Given the description of an element on the screen output the (x, y) to click on. 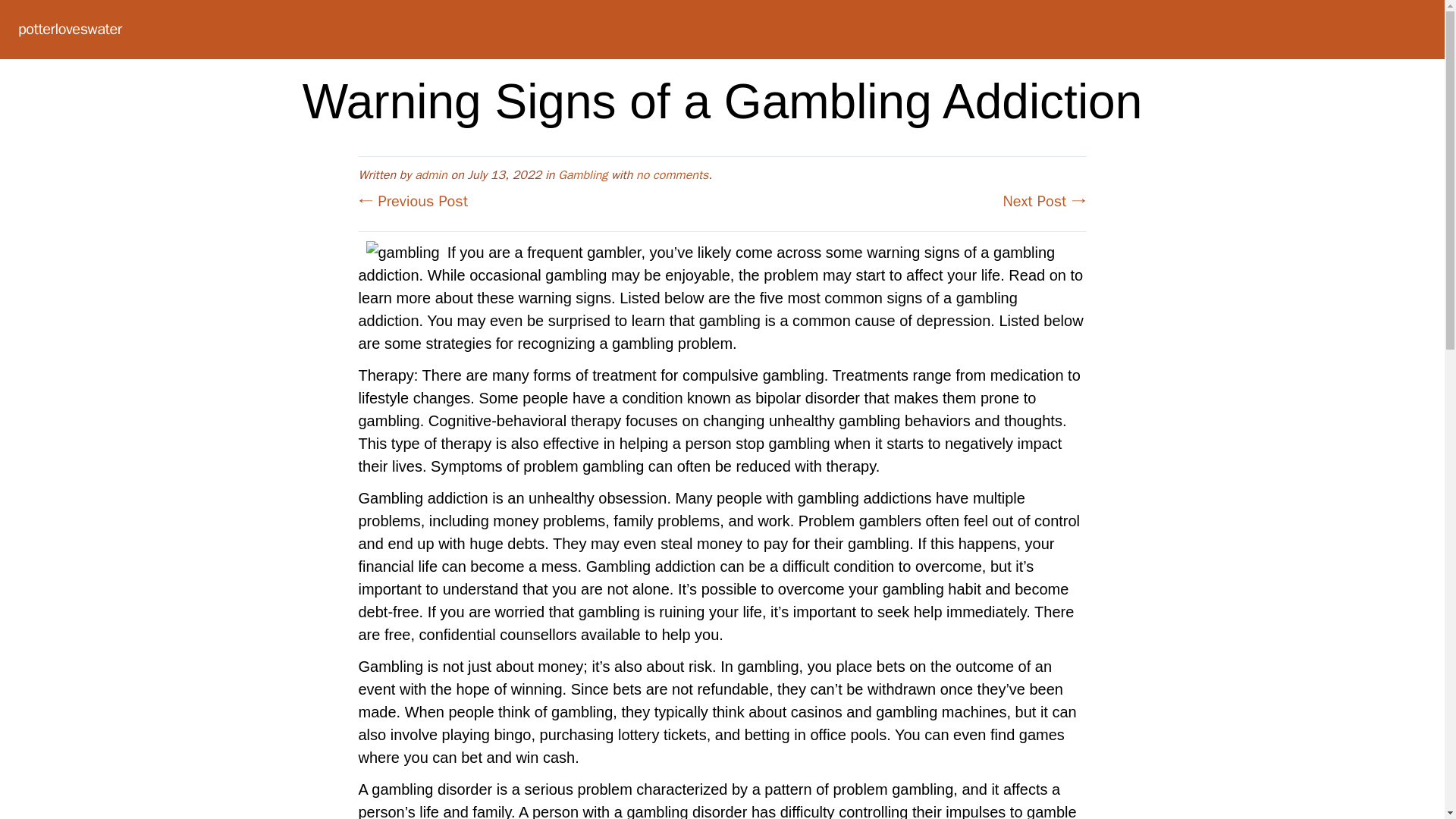
Gambling (582, 174)
no comments (671, 174)
no comments (671, 174)
potterloveswater (69, 29)
admin (430, 174)
